Given the description of an element on the screen output the (x, y) to click on. 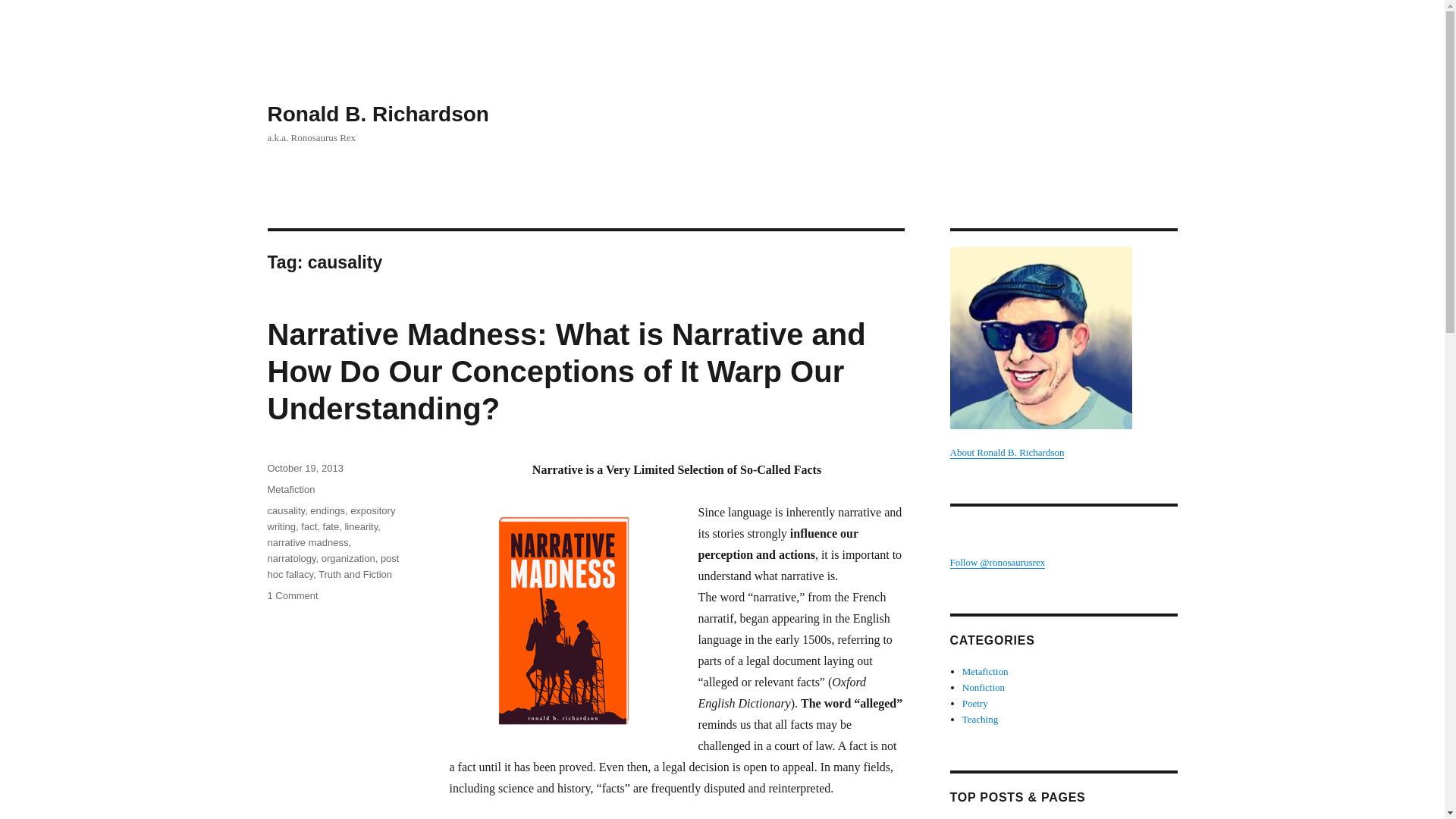
October 19, 2013 (304, 468)
Metafiction (985, 671)
causality (285, 510)
organization (348, 558)
Nonfiction (983, 686)
Metafiction (290, 489)
narratology (290, 558)
expository writing (330, 518)
linearity (360, 526)
endings (327, 510)
fact (309, 526)
Poetry (975, 703)
post hoc fallacy (332, 565)
Teaching (979, 718)
